Given the description of an element on the screen output the (x, y) to click on. 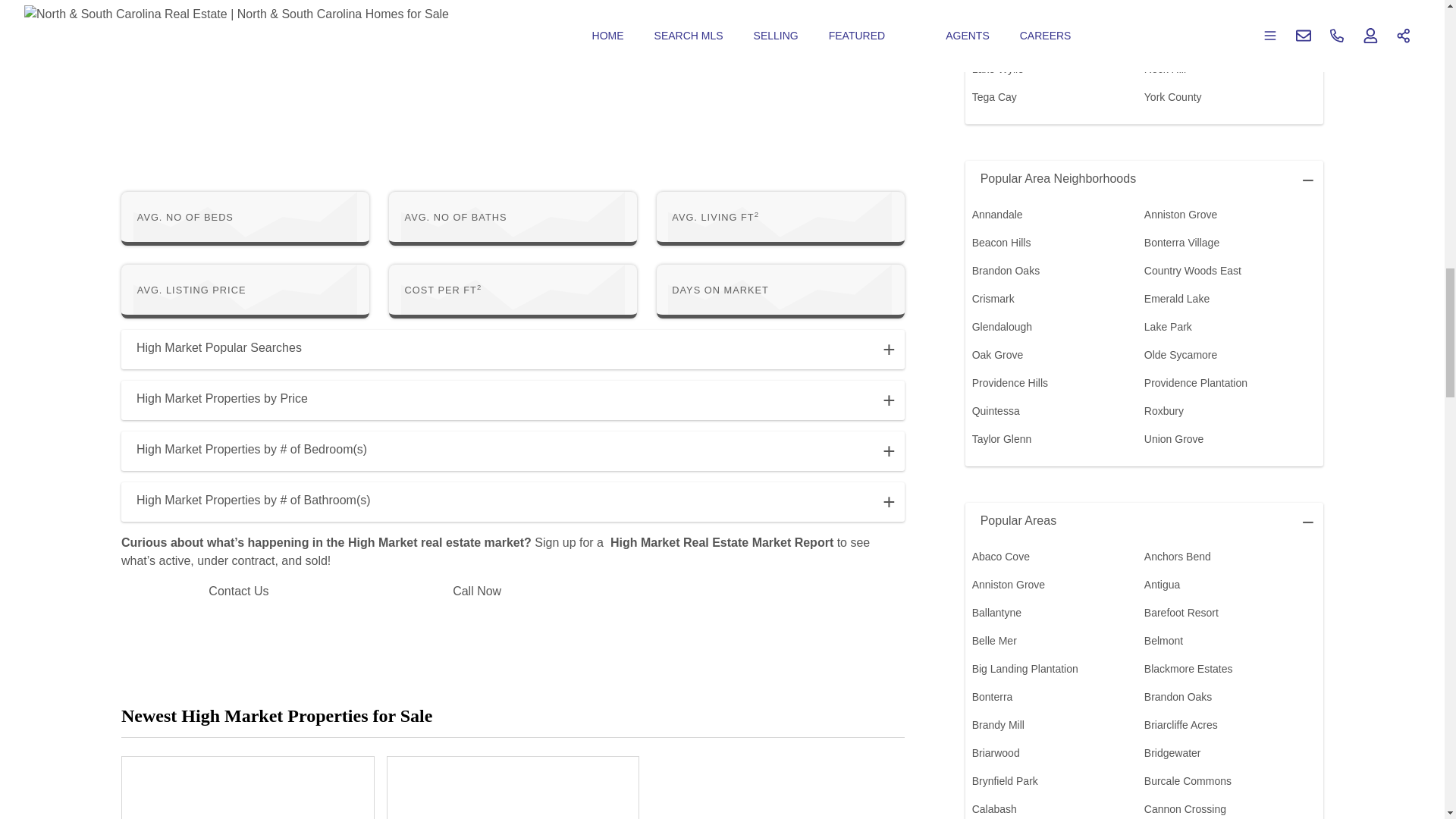
Market Statistics (512, 254)
High Market by Price (512, 400)
Average Living Square Feet (714, 216)
Cost Per Sqaure Foot (442, 289)
Average Listing Price (191, 289)
Average Number of Baths (455, 216)
Average Number of Beds (184, 216)
High Market Popular Searches (512, 349)
Days on Market (719, 289)
